Given the description of an element on the screen output the (x, y) to click on. 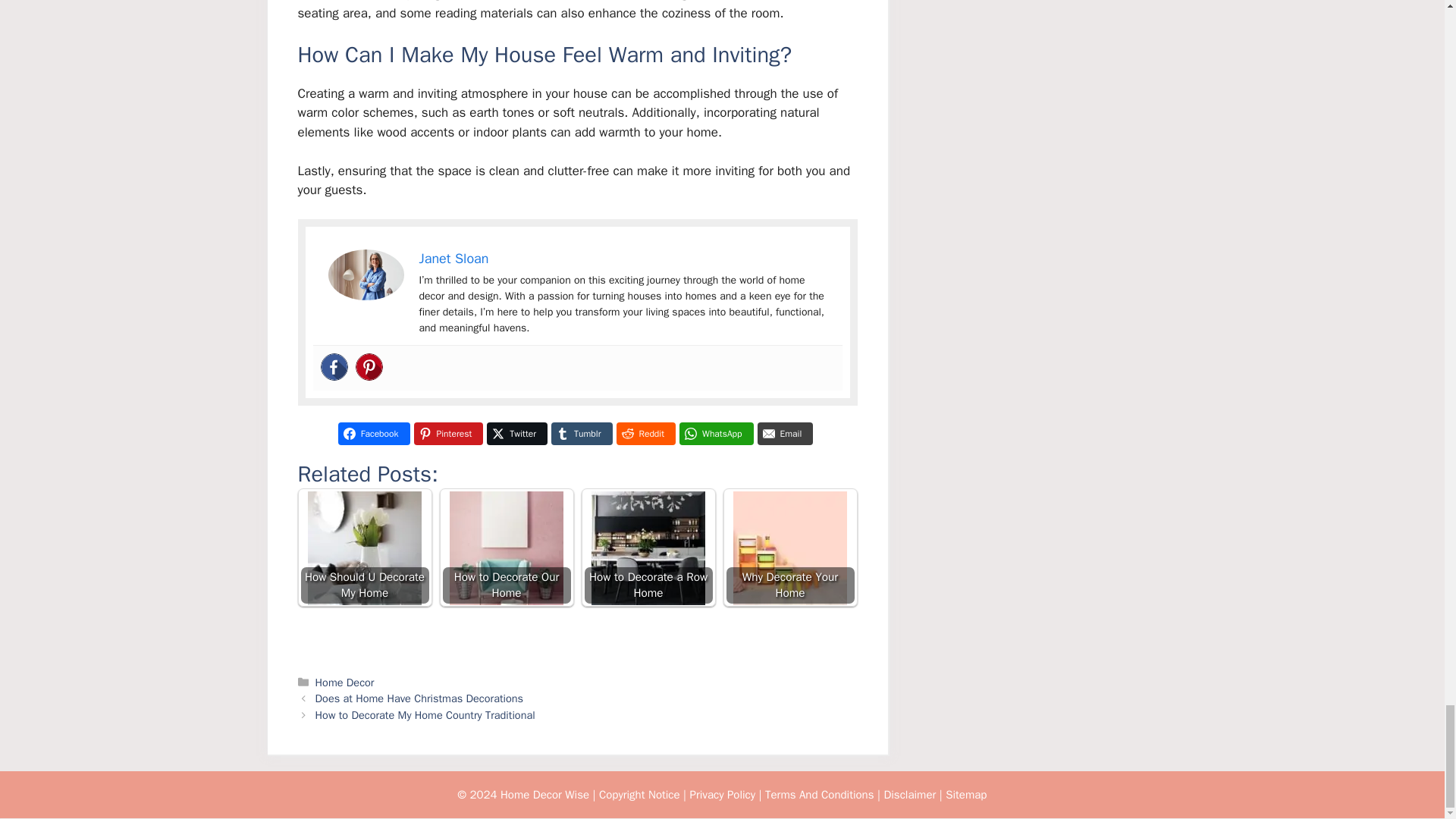
Janet Sloan (453, 258)
Facebook (373, 433)
